Given the description of an element on the screen output the (x, y) to click on. 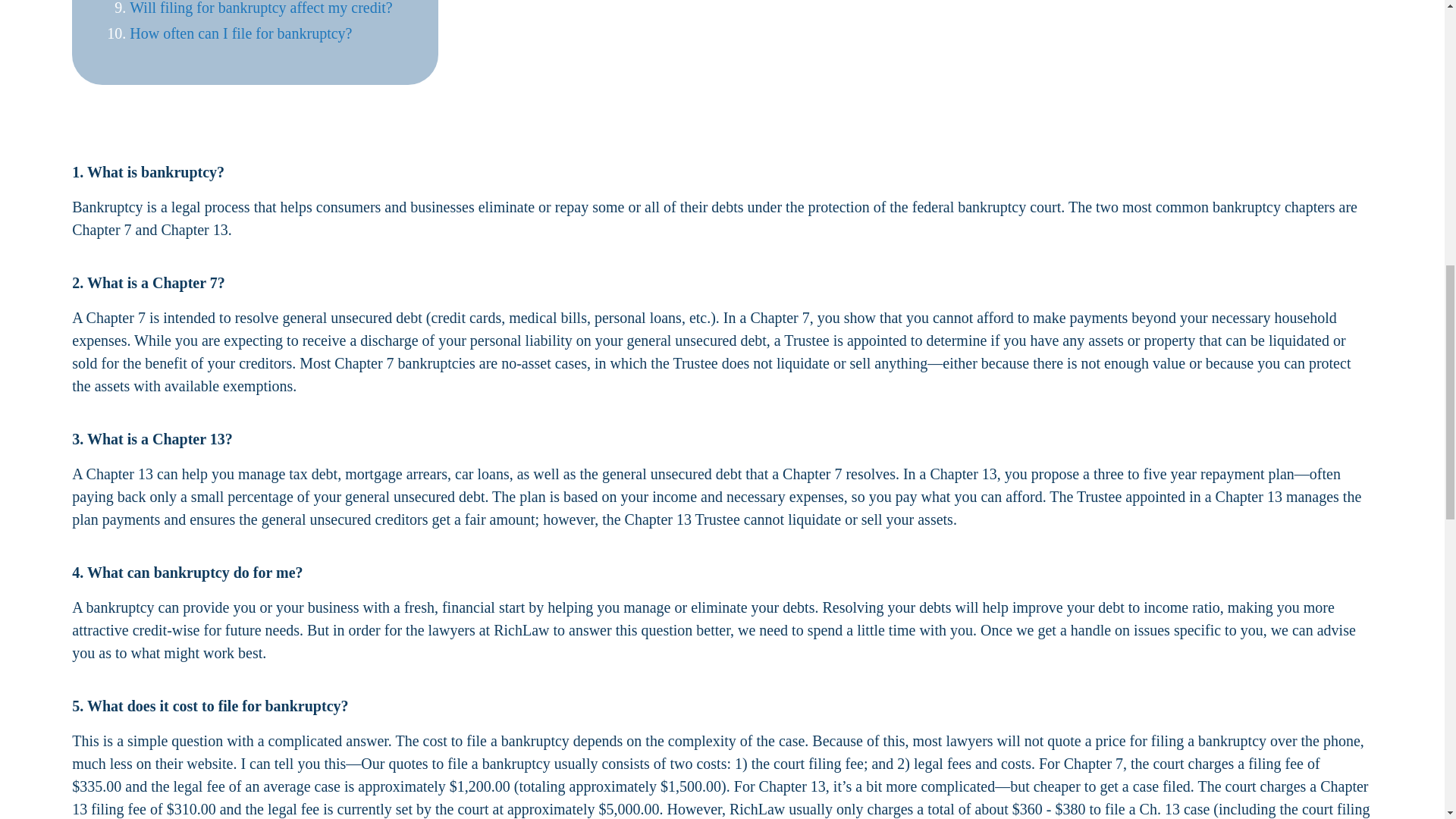
How often can I file for bankruptcy? (240, 33)
Will filing for bankruptcy affect my credit? (260, 8)
